Given the description of an element on the screen output the (x, y) to click on. 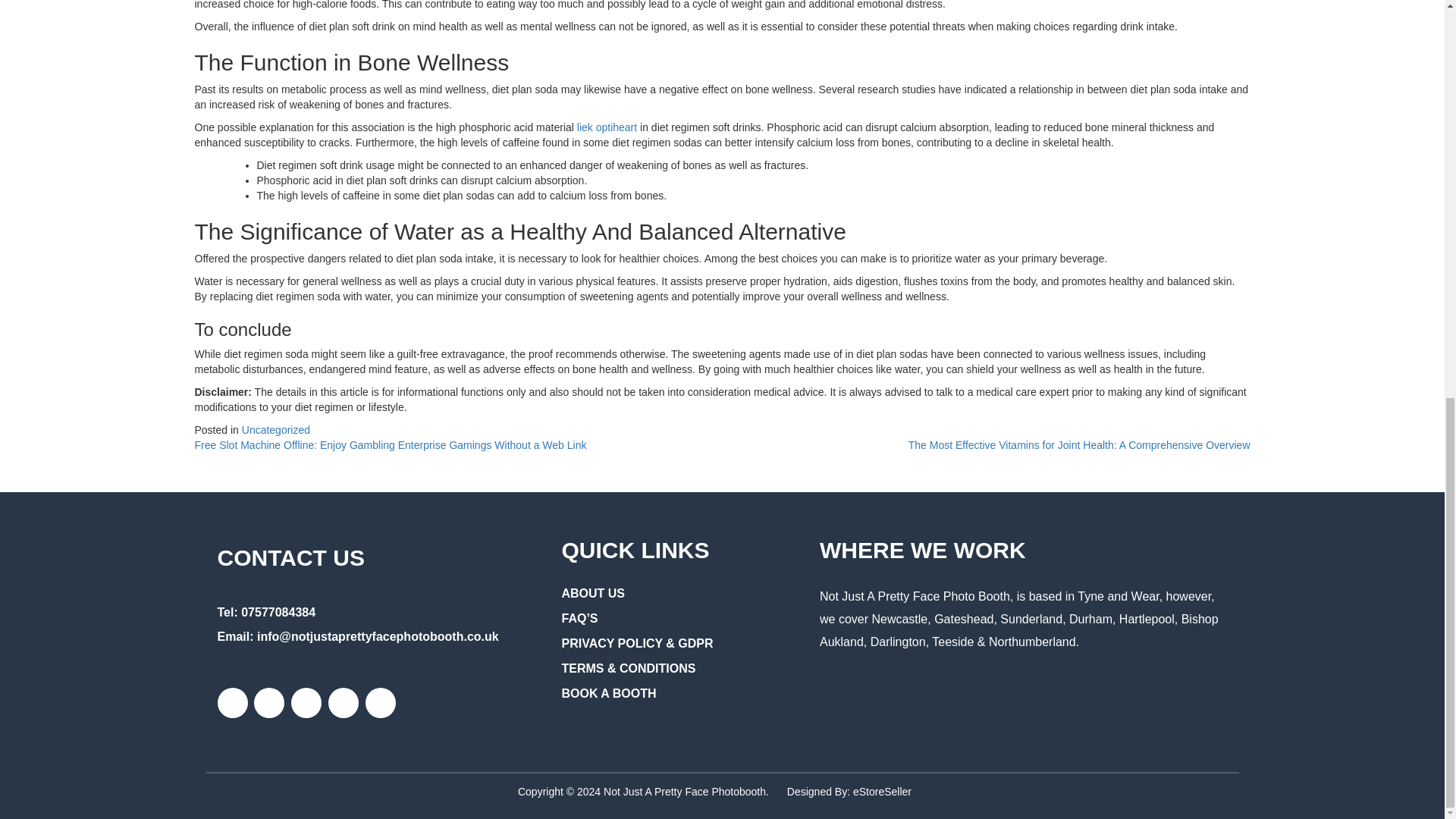
Designed By: eStoreSeller (848, 791)
BOOK A BOOTH (608, 697)
liek optiheart (606, 127)
Uncategorized (275, 429)
ABOUT US (592, 597)
